Given the description of an element on the screen output the (x, y) to click on. 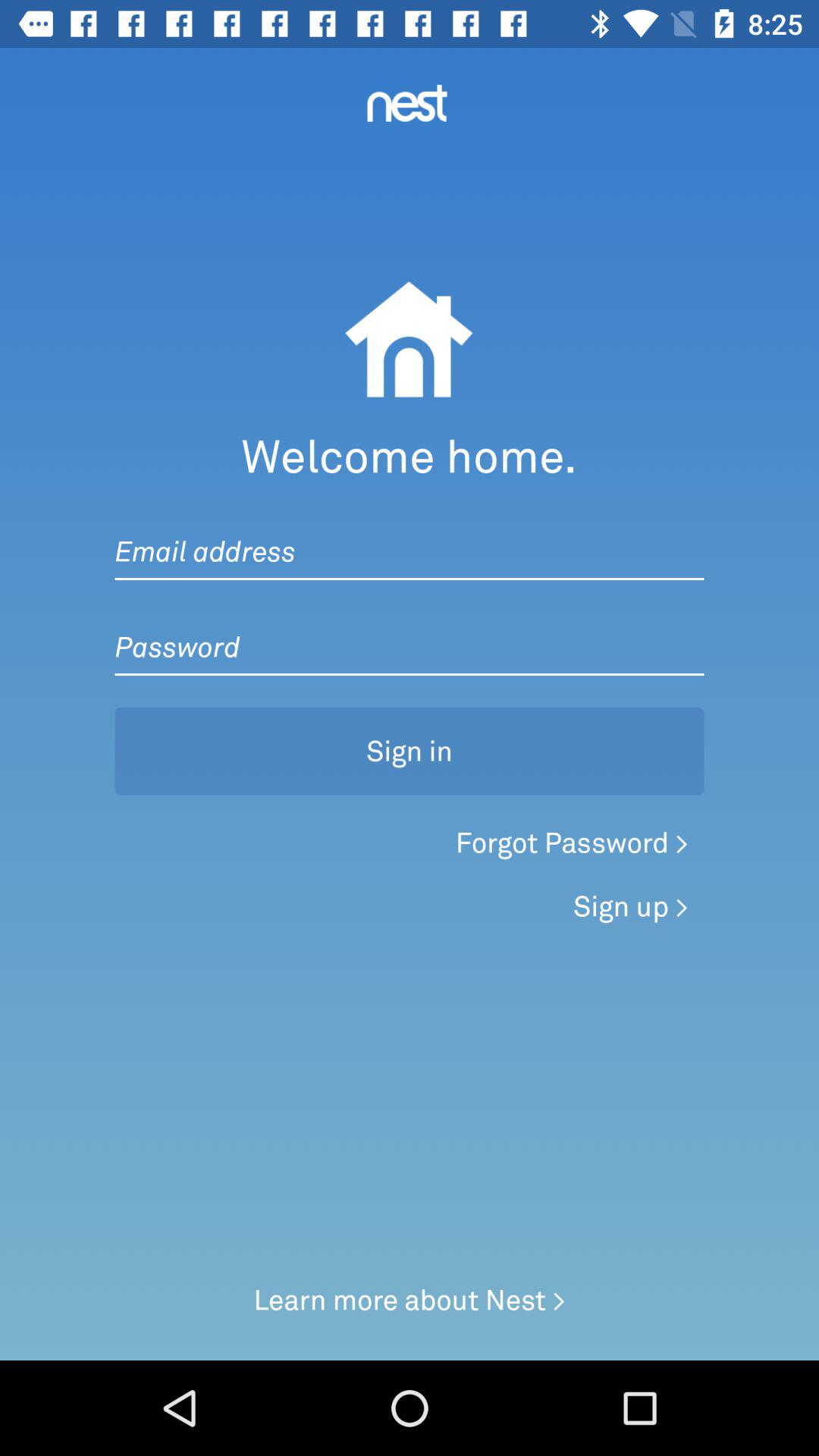
turn on the item below the welcome home. (409, 536)
